Given the description of an element on the screen output the (x, y) to click on. 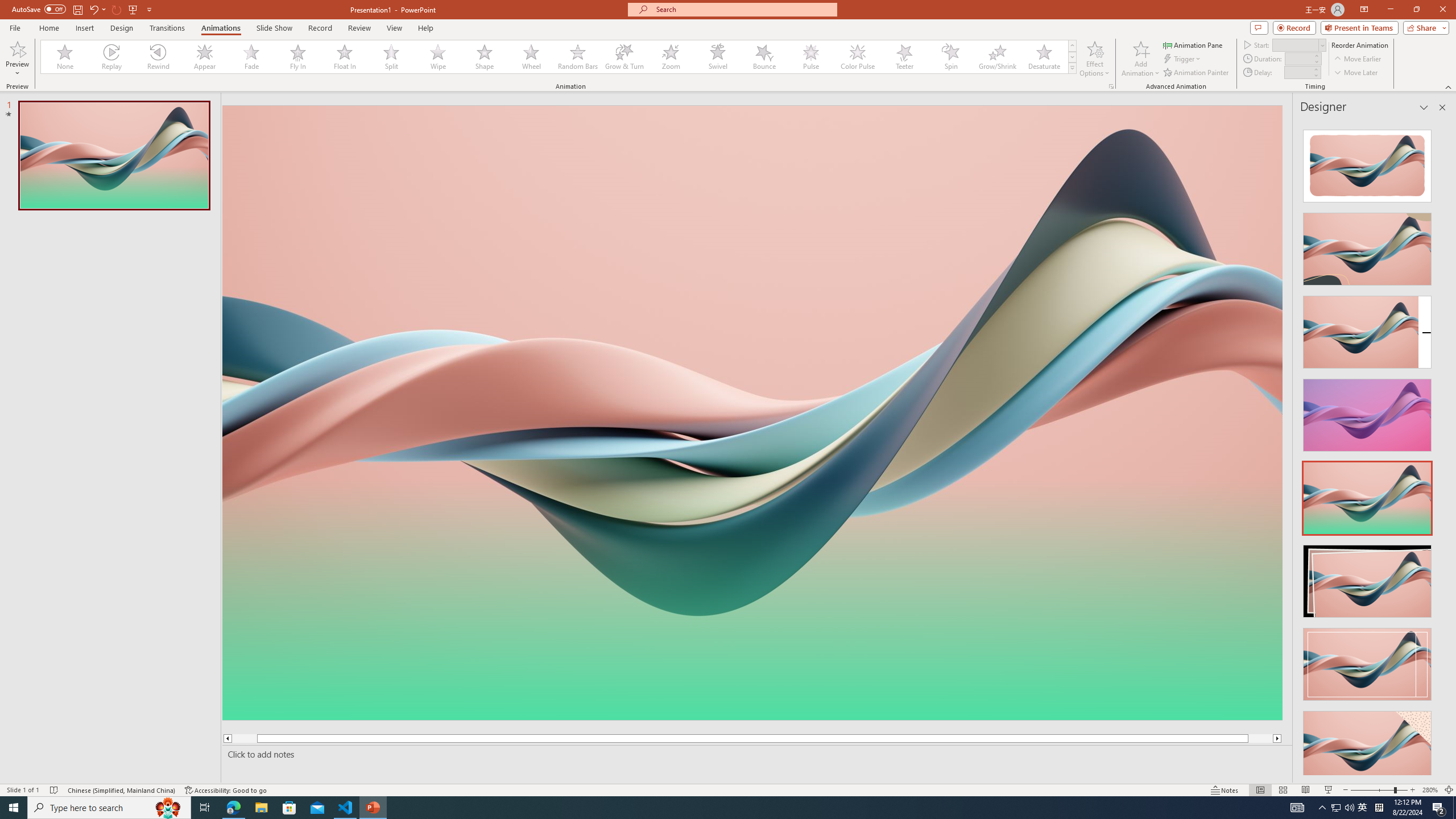
Wheel (531, 56)
AutomationID: AnimationGallery (558, 56)
Add Animation (1141, 58)
Wipe (437, 56)
